Given the description of an element on the screen output the (x, y) to click on. 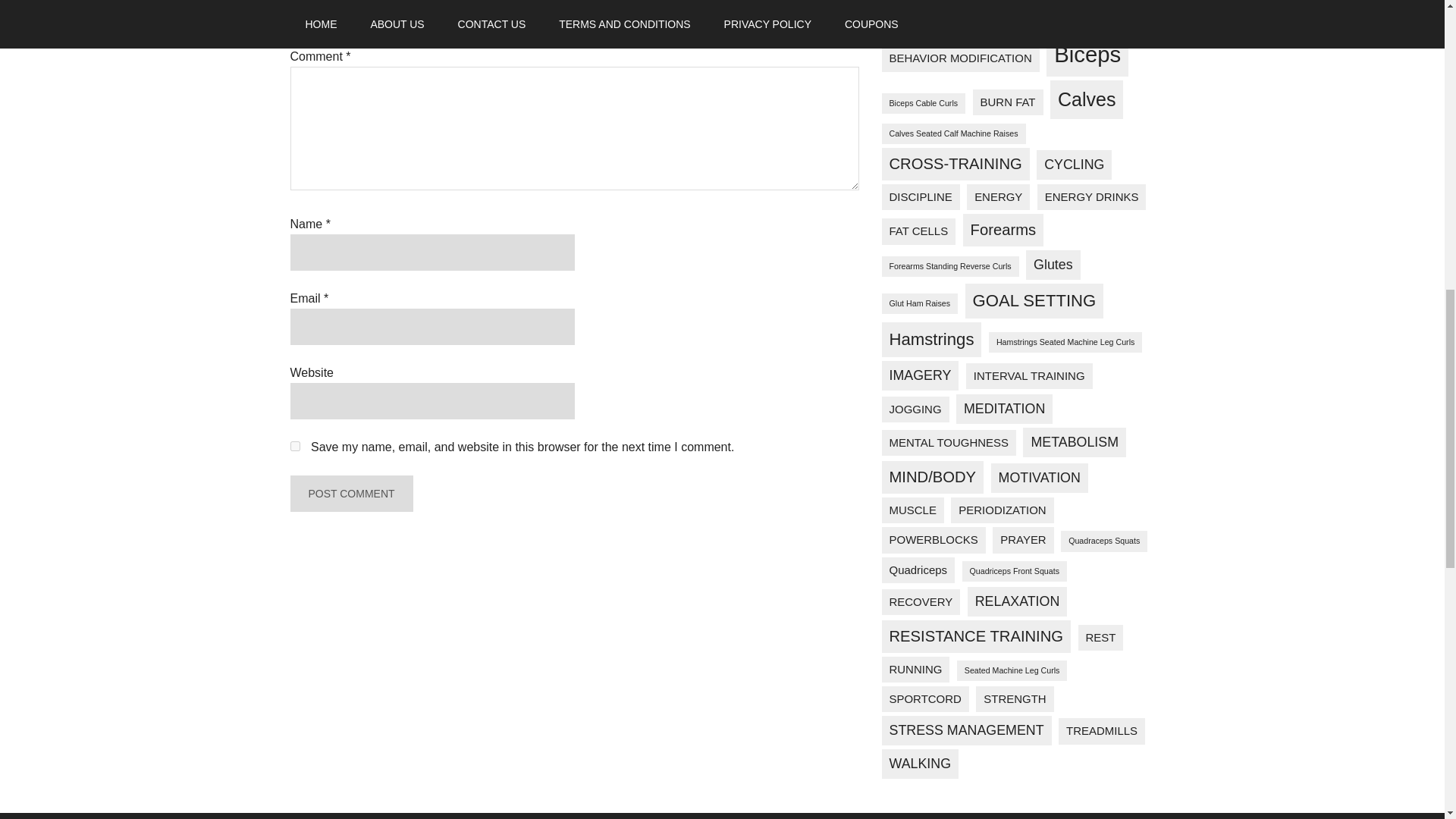
Biceps (1087, 54)
CYCLING (1074, 164)
Biceps Cable Curls (922, 103)
ENERGY DRINKS (1091, 196)
Post Comment (350, 493)
BURN FAT (1007, 102)
Calves Seated Calf Machine Raises (952, 133)
DISCIPLINE (919, 196)
ENERGY (997, 196)
Calves (1085, 99)
yes (294, 446)
Post Comment (350, 493)
CROSS-TRAINING (954, 164)
BEHAVIOR MODIFICATION (959, 58)
FAT CELLS (917, 231)
